Given the description of an element on the screen output the (x, y) to click on. 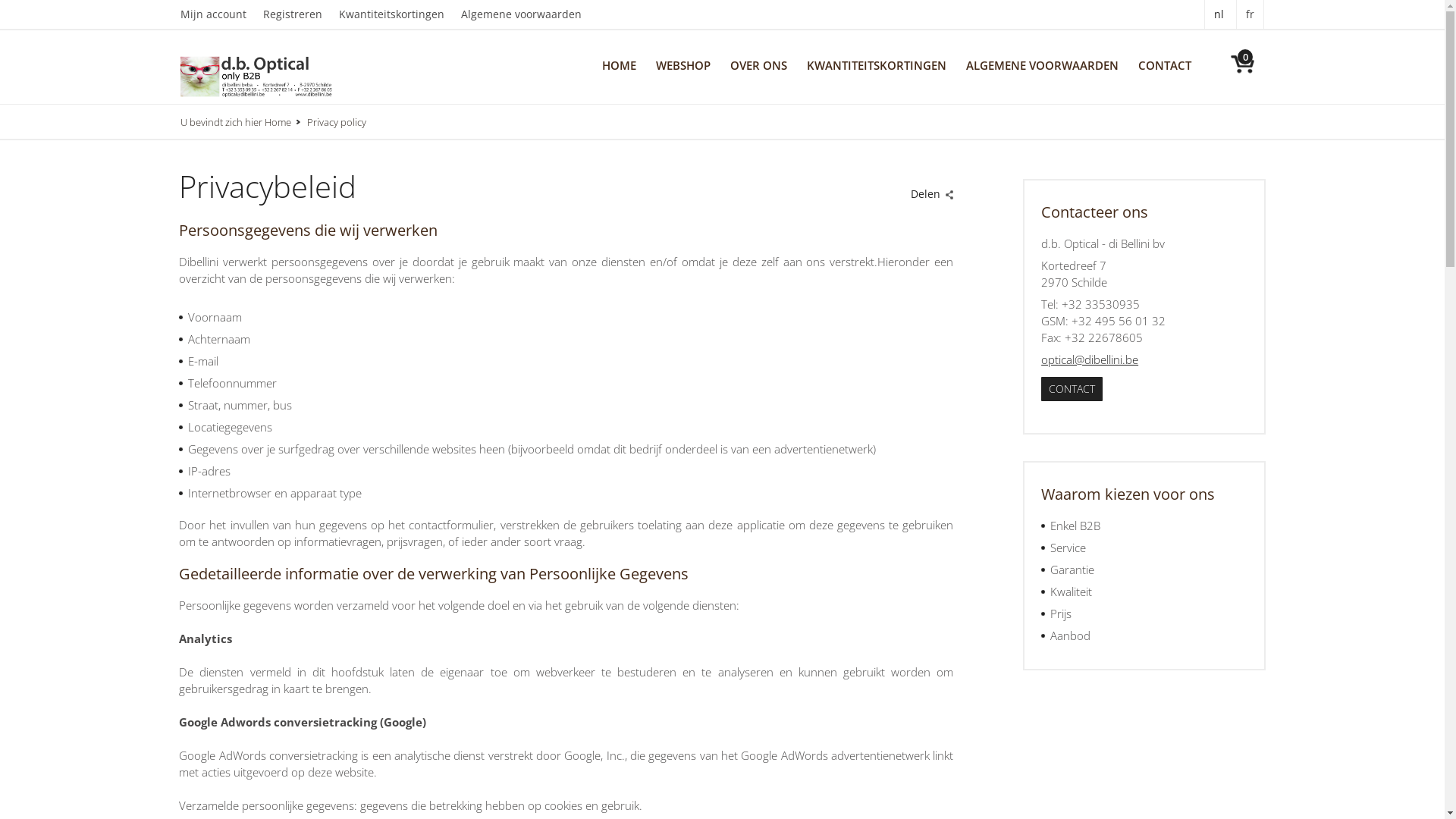
fr Element type: text (1250, 14)
Home Element type: text (284, 121)
WEBSHOP Element type: text (682, 63)
HOME Element type: text (619, 63)
Mijn account Element type: text (221, 14)
Delen Element type: text (928, 189)
d.b. Optical  - di Bellini bv Element type: hover (256, 75)
KWANTITEITSKORTINGEN Element type: text (876, 63)
nl Element type: text (1218, 14)
OVER ONS Element type: text (758, 63)
Registreren Element type: text (300, 14)
0 Element type: text (1233, 61)
CONTACT Element type: text (1164, 63)
optical@dibellini.be Element type: text (1089, 359)
Kwantiteitskortingen Element type: text (399, 14)
CONTACT Element type: text (1071, 388)
Algemene voorwaarden Element type: text (529, 14)
ALGEMENE VOORWAARDEN Element type: text (1042, 63)
